Given the description of an element on the screen output the (x, y) to click on. 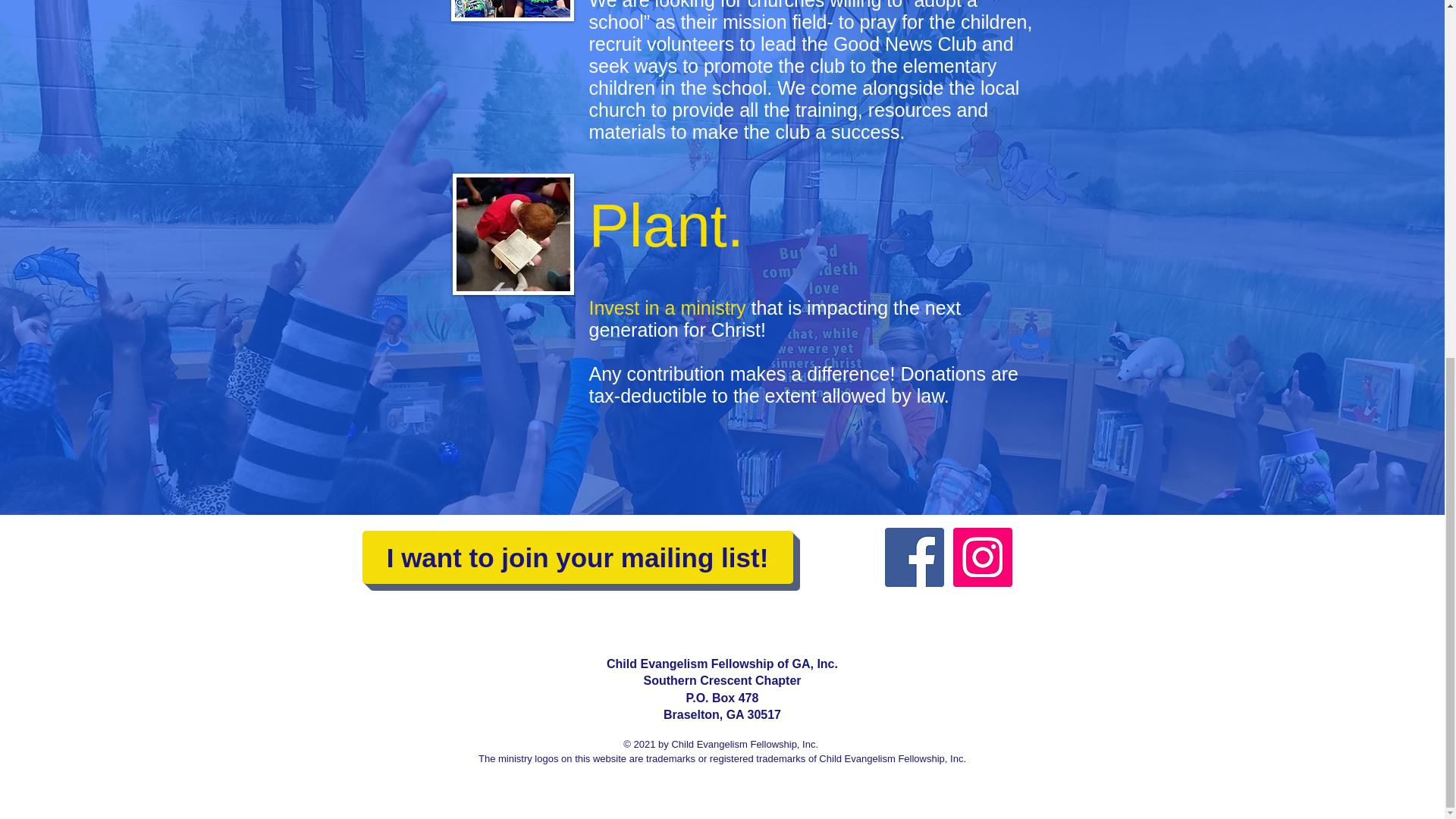
Invest in a ministry (666, 307)
I want to join your mailing list! (577, 556)
